Given the description of an element on the screen output the (x, y) to click on. 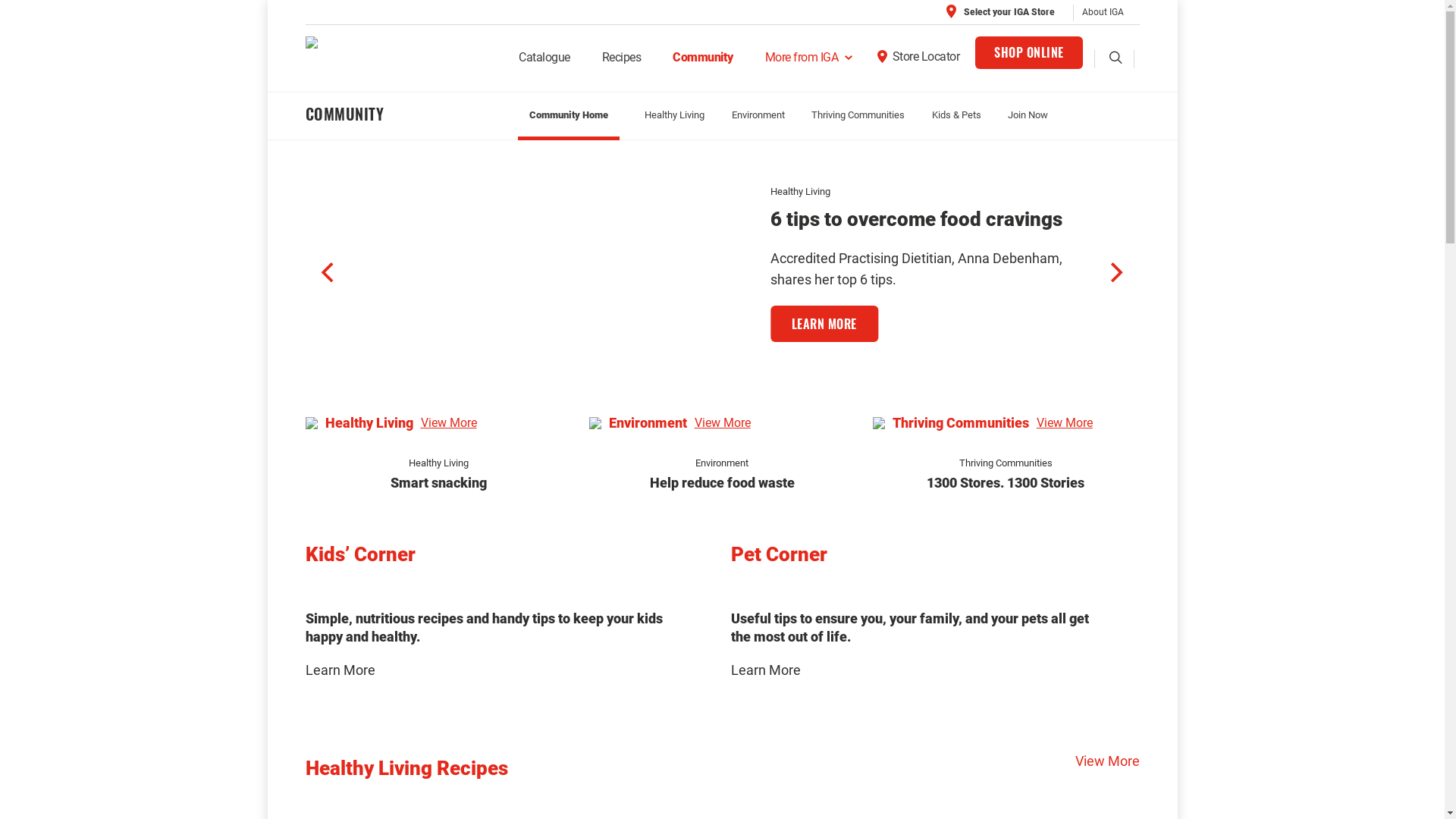
Thriving Communities Element type: text (931, 191)
Join Now Element type: text (1027, 114)
Environment Element type: text (758, 114)
1300 Stores. 1300 Stories Element type: text (1005, 482)
COMMUNITY Element type: text (402, 113)
SHOP ONLINE Element type: text (1029, 52)
Select your IGA Store Element type: text (999, 12)
Community Home Element type: text (568, 117)
Community Element type: text (702, 63)
Learn More Element type: text (765, 669)
Learn More Element type: text (339, 669)
Recipes Element type: text (621, 63)
View More Element type: text (722, 422)
Catalogue Element type: text (544, 63)
Environment Element type: text (721, 462)
Healthy Living Element type: text (438, 462)
Thriving Communities Element type: text (857, 114)
View More Element type: text (448, 422)
View More Element type: text (1064, 422)
LEARN MORE Element type: text (818, 344)
View More Element type: text (1107, 760)
Store Locator Element type: text (918, 62)
Help reduce food waste Element type: text (721, 482)
More from IGA Element type: text (805, 63)
Thriving Communities Element type: text (1005, 462)
Smart snacking Element type: text (438, 482)
Kids & Pets Element type: text (956, 114)
Healthy Living Element type: text (674, 114)
About IGA Element type: text (1101, 12)
